Given the description of an element on the screen output the (x, y) to click on. 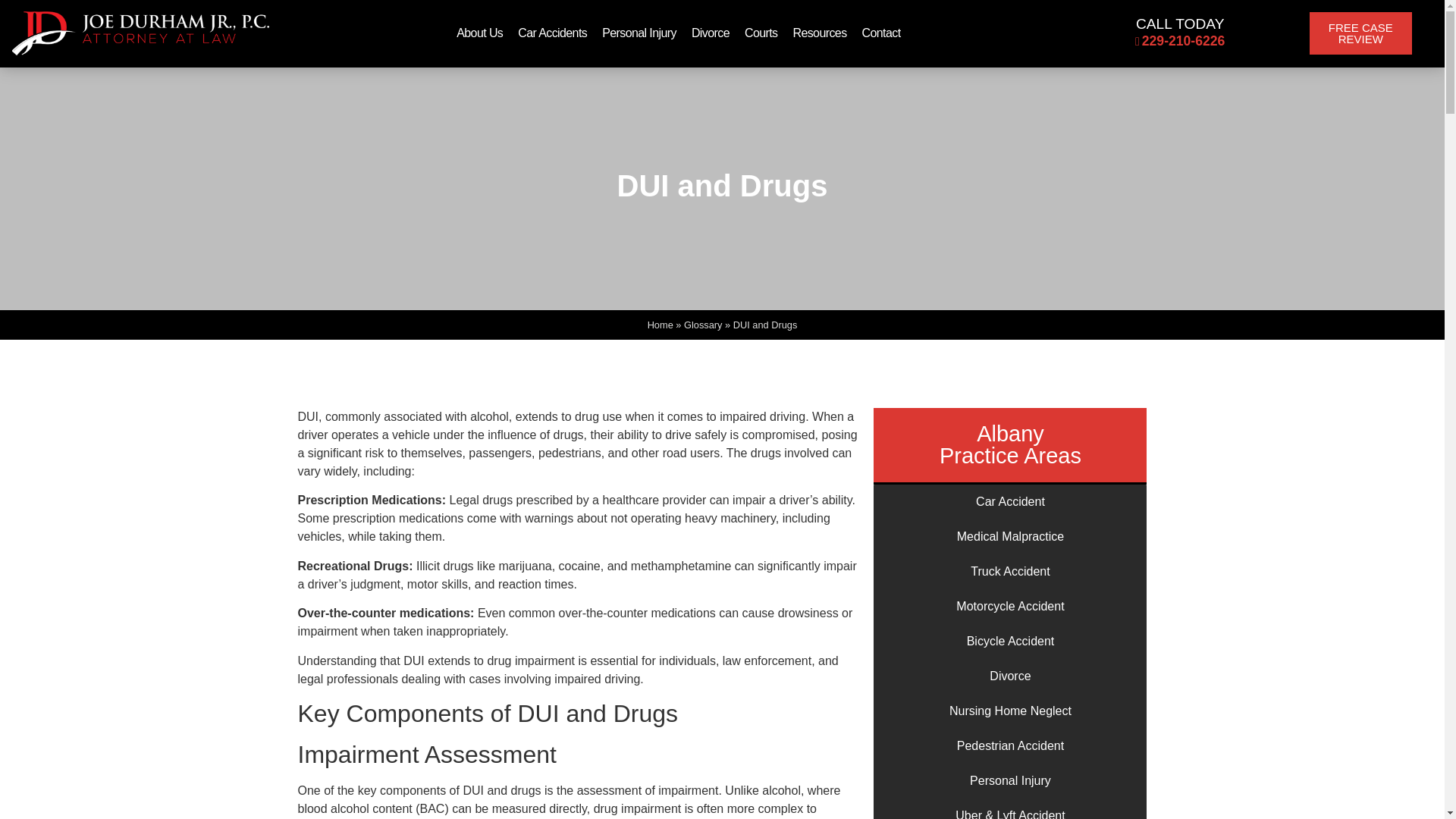
About Us (479, 33)
Divorce (710, 33)
Car Accidents (552, 33)
Resources (818, 33)
Contact (881, 33)
Courts (761, 33)
Personal Injury (639, 33)
